Given the description of an element on the screen output the (x, y) to click on. 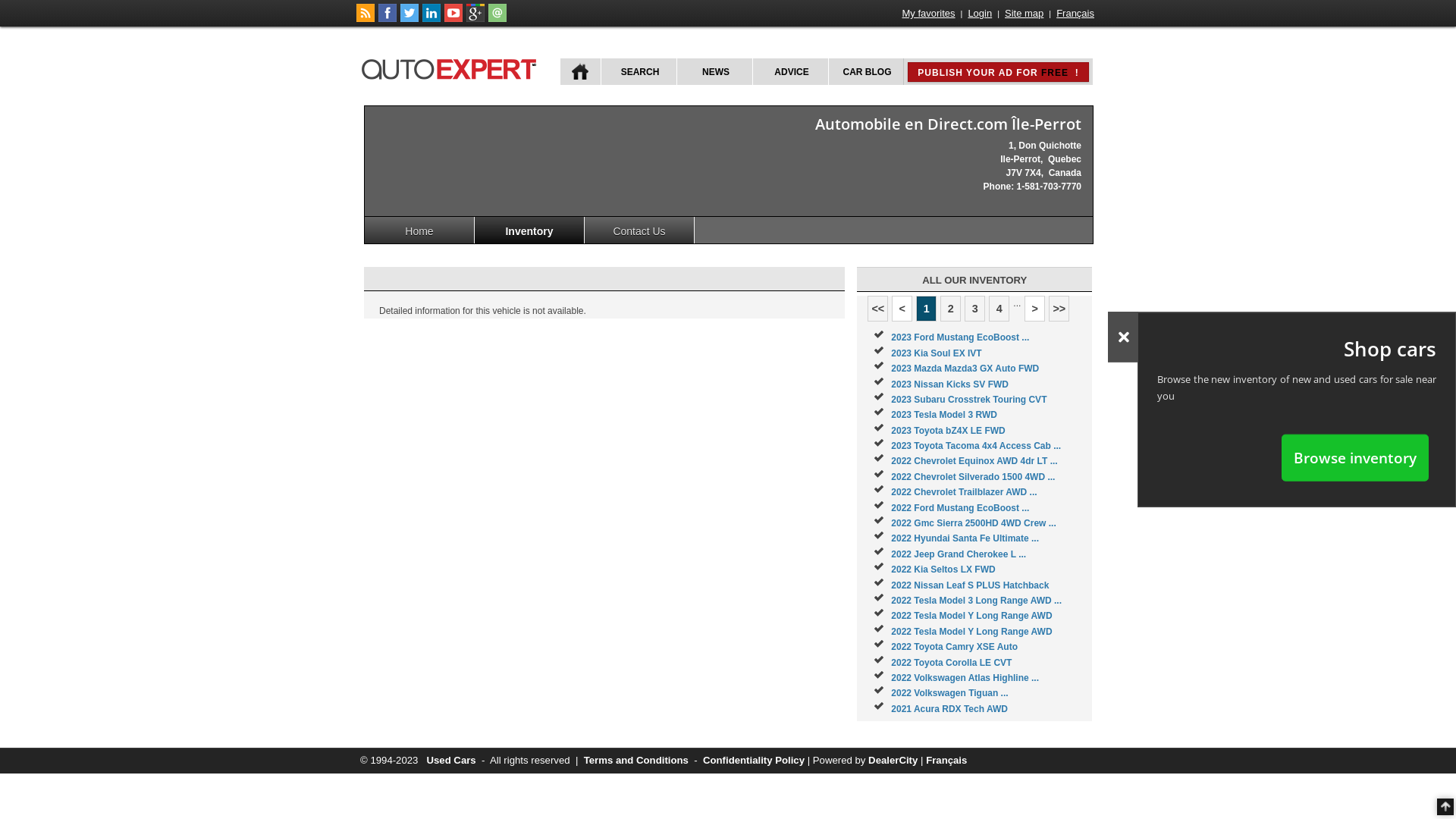
Browse inventory Element type: text (1354, 457)
NEWS Element type: text (714, 71)
2023 Nissan Kicks SV FWD Element type: text (949, 384)
Follow car news on autoExpert.ca Element type: hover (365, 18)
2022 Tesla Model Y Long Range AWD Element type: text (971, 631)
4 Element type: text (998, 308)
2022 Volkswagen Tiguan ... Element type: text (949, 692)
2022 Jeep Grand Cherokee L ... Element type: text (958, 554)
2023 Kia Soul EX IVT Element type: text (936, 353)
2023 Tesla Model 3 RWD Element type: text (944, 414)
2022 Chevrolet Equinox AWD 4dr LT ... Element type: text (974, 460)
2023 Mazda Mazda3 GX Auto FWD Element type: text (964, 368)
Site map Element type: text (1023, 13)
Follow autoExpert.ca on Facebook Element type: hover (387, 18)
2022 Nissan Leaf S PLUS Hatchback Element type: text (969, 585)
2022 Toyota Corolla LE CVT Element type: text (951, 662)
2022 Chevrolet Silverado 1500 4WD ... Element type: text (972, 476)
< Element type: text (901, 308)
2022 Gmc Sierra 2500HD 4WD Crew ... Element type: text (973, 522)
2023 Toyota bZ4X LE FWD Element type: text (947, 430)
Used Cars Element type: text (450, 759)
Contact autoExpert.ca Element type: hover (497, 18)
Home Element type: text (419, 229)
Terms and Conditions Element type: text (635, 759)
2022 Chevrolet Trailblazer AWD ... Element type: text (963, 491)
2021 Acura RDX Tech AWD Element type: text (949, 708)
2022 Volkswagen Atlas Highline ... Element type: text (964, 677)
Confidentiality Policy Element type: text (753, 759)
Login Element type: text (979, 13)
Contact Us Element type: text (639, 229)
2022 Hyundai Santa Fe Ultimate ... Element type: text (964, 538)
3 Element type: text (974, 308)
PUBLISH YOUR AD FOR FREE  ! Element type: text (997, 71)
2022 Tesla Model Y Long Range AWD Element type: text (971, 615)
Inventory Element type: text (529, 229)
2022 Tesla Model 3 Long Range AWD ... Element type: text (976, 600)
<< Element type: text (877, 308)
2022 Ford Mustang EcoBoost ... Element type: text (960, 507)
autoExpert.ca Element type: text (451, 66)
CAR BLOG Element type: text (865, 71)
>> Element type: text (1058, 308)
2022 Kia Seltos LX FWD Element type: text (942, 569)
ADVICE Element type: text (790, 71)
2023 Subaru Crosstrek Touring CVT Element type: text (968, 399)
2023 Toyota Tacoma 4x4 Access Cab ... Element type: text (975, 445)
Follow Publications Le Guide Inc. on LinkedIn Element type: hover (431, 18)
2 Element type: text (950, 308)
SEARCH Element type: text (638, 71)
Follow autoExpert.ca on Youtube Element type: hover (453, 18)
1 Element type: text (926, 308)
Follow autoExpert.ca on Google Plus Element type: hover (475, 18)
2023 Ford Mustang EcoBoost ... Element type: text (960, 337)
HOME Element type: text (580, 71)
2022 Toyota Camry XSE Auto Element type: text (954, 646)
> Element type: text (1034, 308)
Follow autoExpert.ca on Twitter Element type: hover (409, 18)
My favorites Element type: text (928, 13)
DealerCity Element type: text (892, 759)
